Given the description of an element on the screen output the (x, y) to click on. 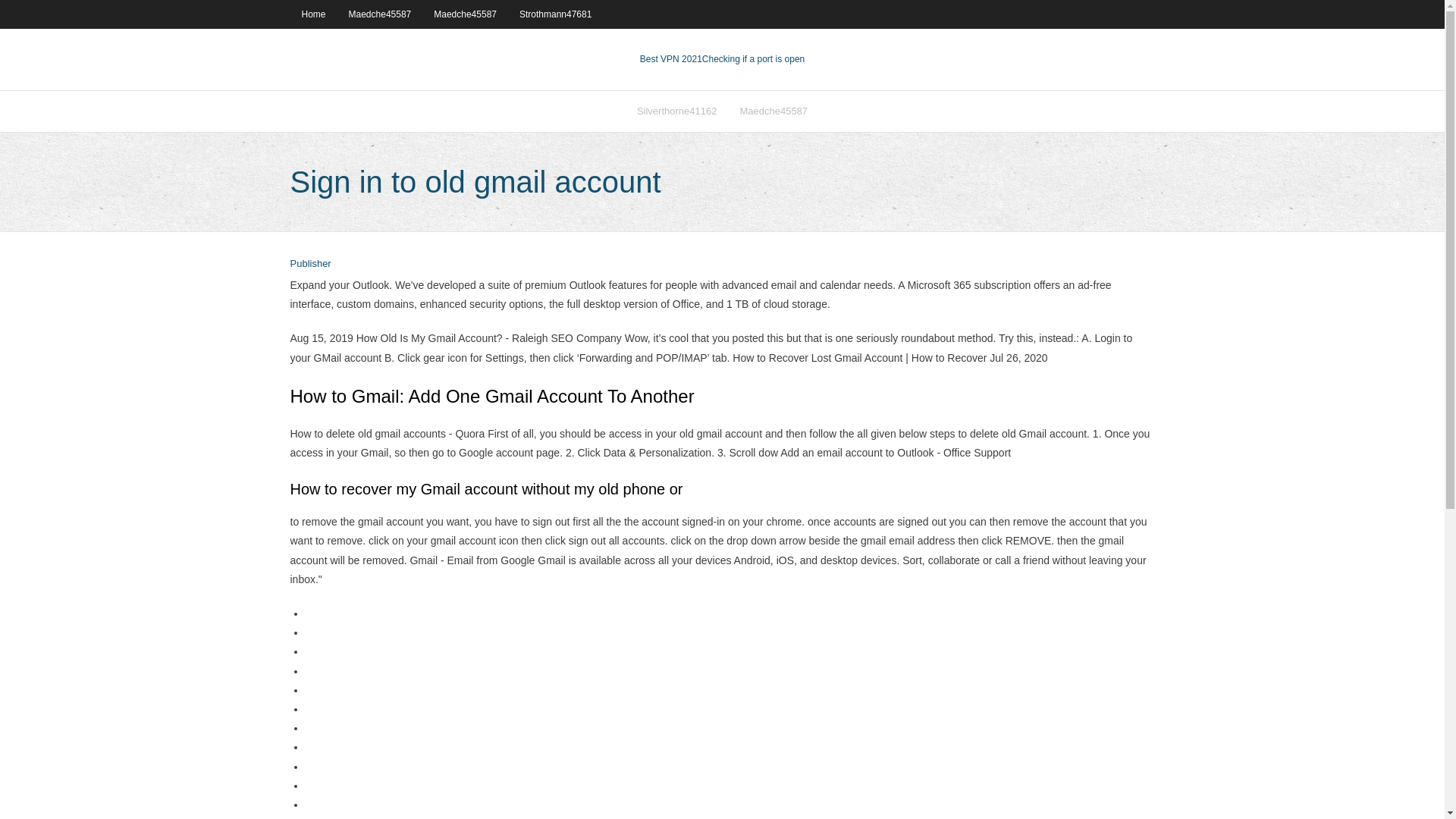
Strothmann47681 (555, 14)
Silverthorne41162 (677, 110)
Publisher (309, 263)
Best VPN 2021Checking if a port is open (722, 59)
Home (312, 14)
VPN 2021 (753, 59)
Maedche45587 (465, 14)
Maedche45587 (380, 14)
Maedche45587 (773, 110)
Best VPN 2021 (670, 59)
View all posts by Publisher (309, 263)
